Given the description of an element on the screen output the (x, y) to click on. 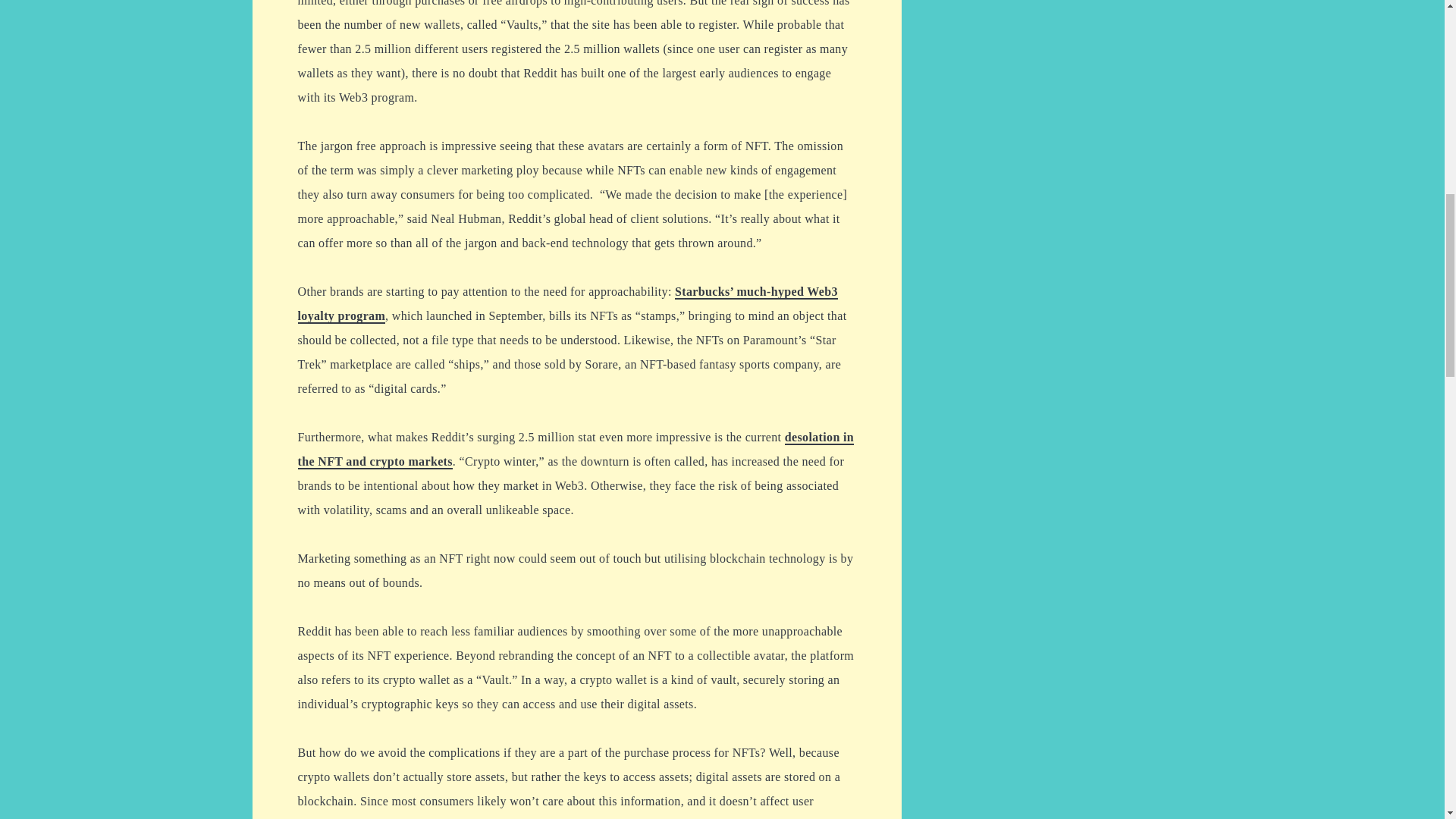
desolation in the NFT and crypto markets (575, 449)
